Given the description of an element on the screen output the (x, y) to click on. 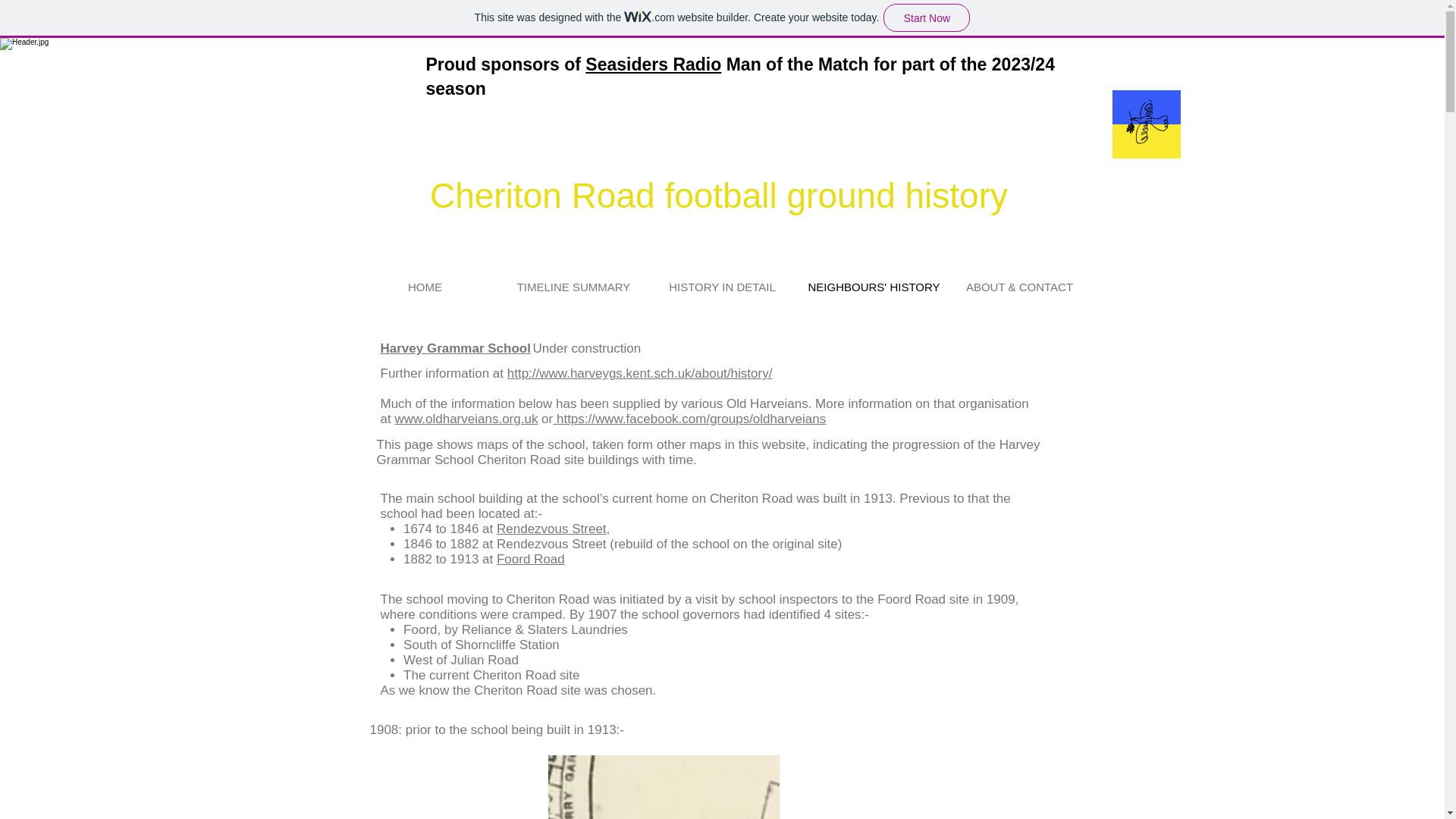
Foord Road (530, 559)
HOME (424, 287)
TIMELINE SUMMARY (573, 287)
Jan Pedersen (511, 3)
Seasiders Radio (652, 64)
Rendezvous Street (551, 528)
NEIGHBOURS' HISTORY (870, 287)
Cheriton Road football ground history (718, 195)
HISTORY IN DETAIL (721, 287)
www.oldharveians.org.uk (465, 418)
